Given the description of an element on the screen output the (x, y) to click on. 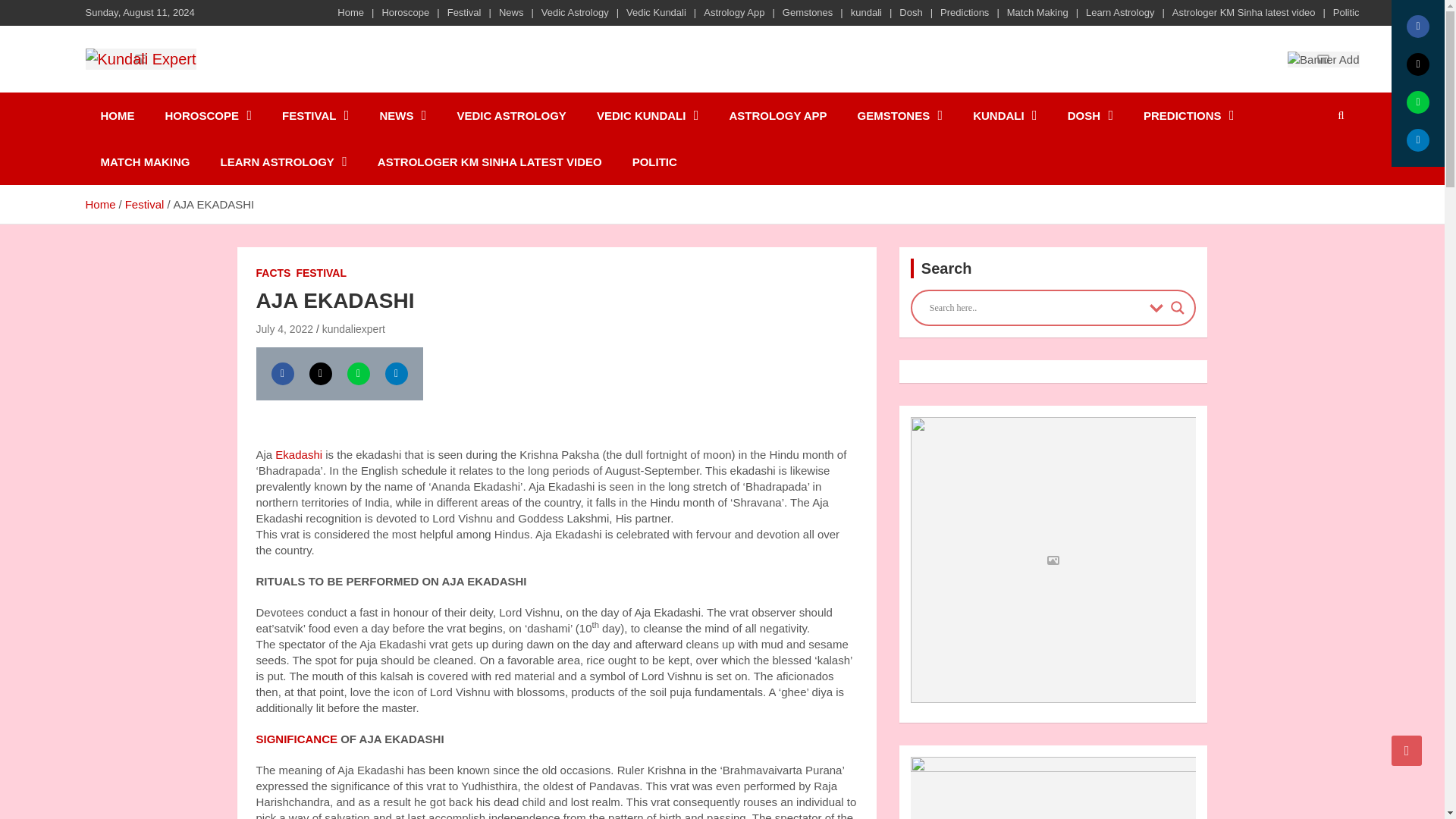
Kundali Expert (191, 89)
Predictions (964, 12)
Go to Top (1406, 750)
NEWS (402, 115)
Horoscope (405, 12)
Festival (463, 12)
HOROSCOPE (208, 115)
HOME (116, 115)
Vedic Kundali (655, 12)
Astrologer KM Sinha latest video (1244, 12)
